Given the description of an element on the screen output the (x, y) to click on. 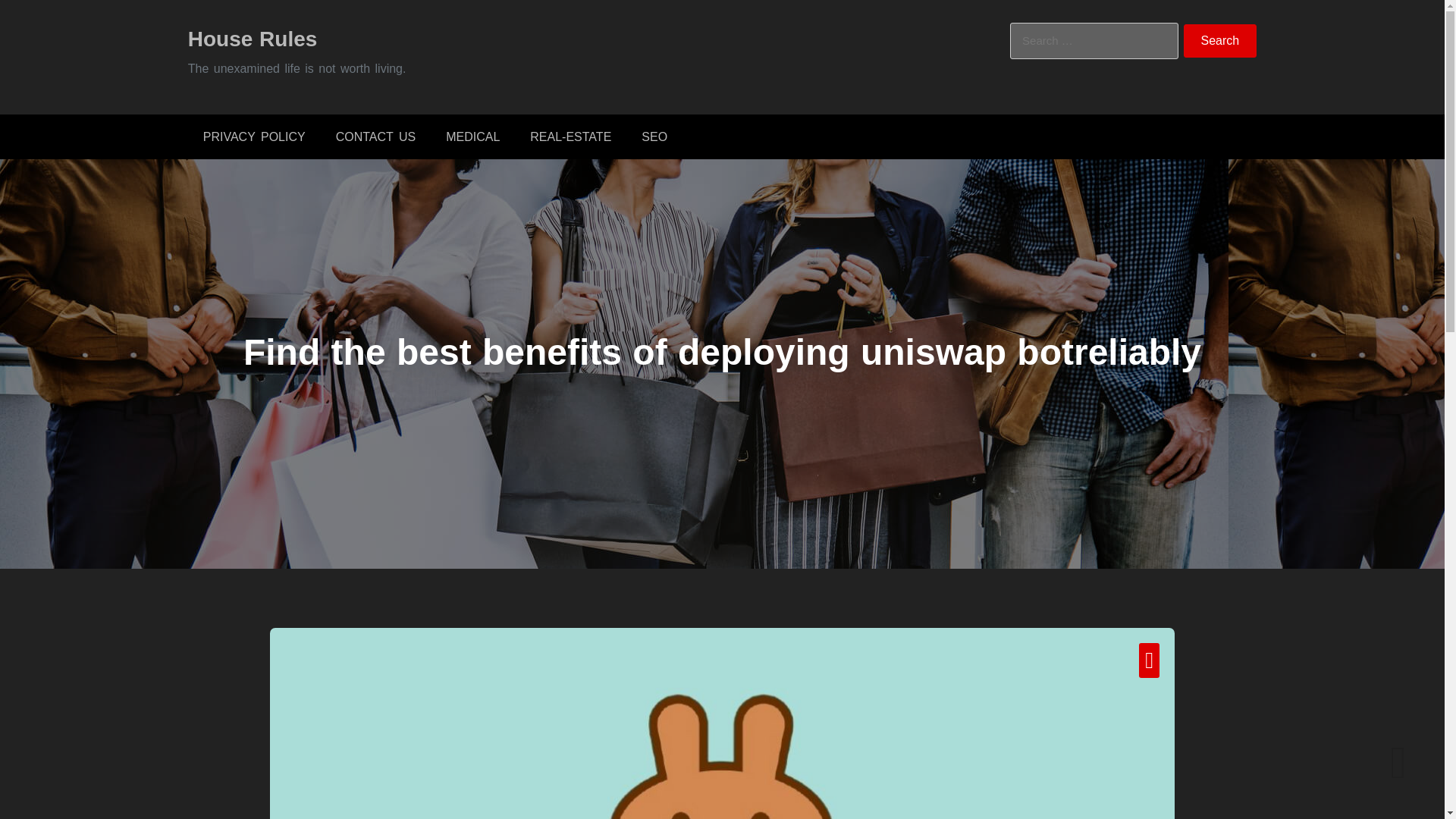
CONTACT US (375, 136)
PRIVACY POLICY (253, 136)
SEO (654, 136)
House Rules (252, 38)
Search (1220, 40)
MEDICAL (472, 136)
Search (1220, 40)
Search (1220, 40)
REAL-ESTATE (570, 136)
